Given the description of an element on the screen output the (x, y) to click on. 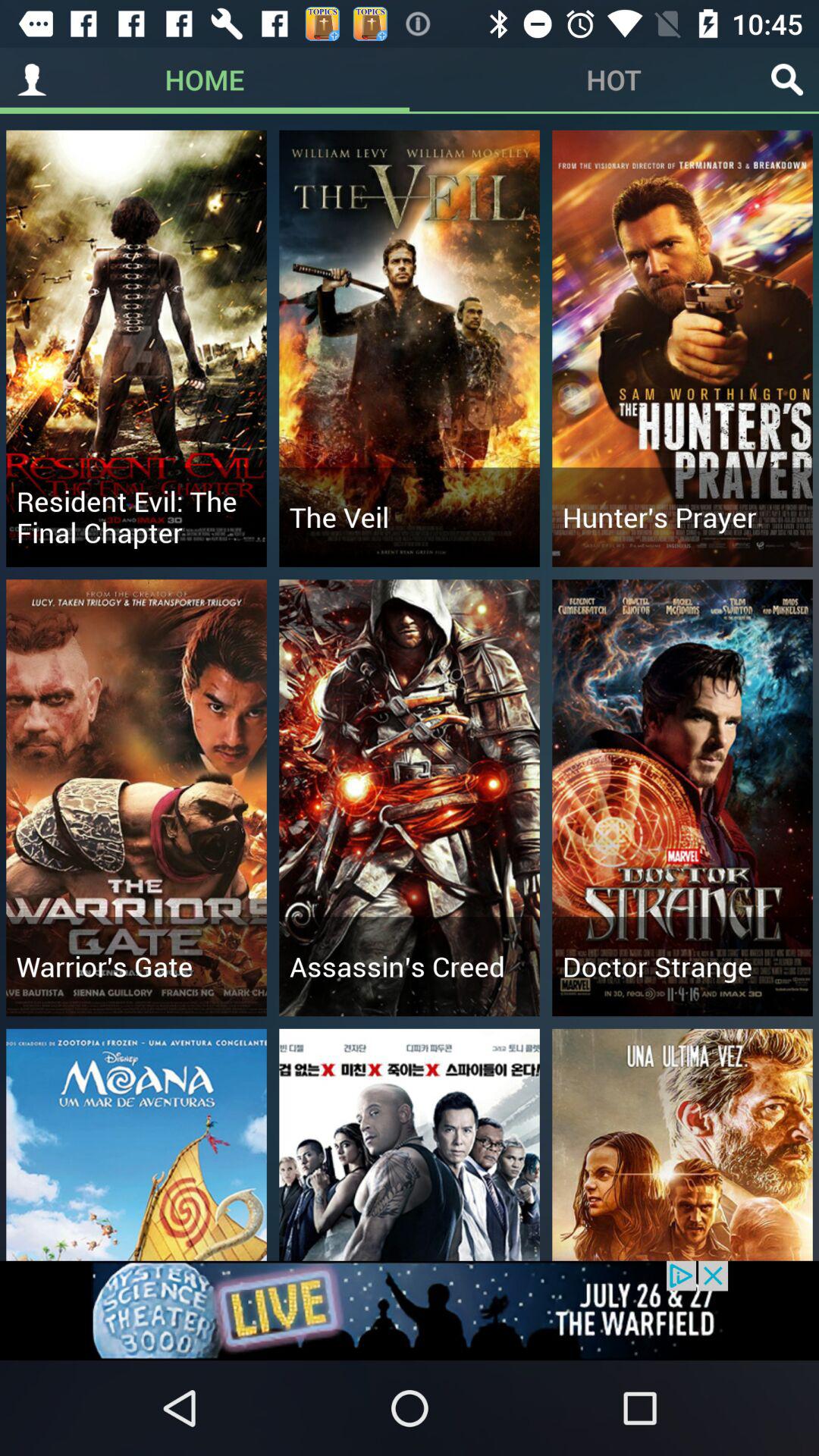
advertisement (409, 1310)
